Given the description of an element on the screen output the (x, y) to click on. 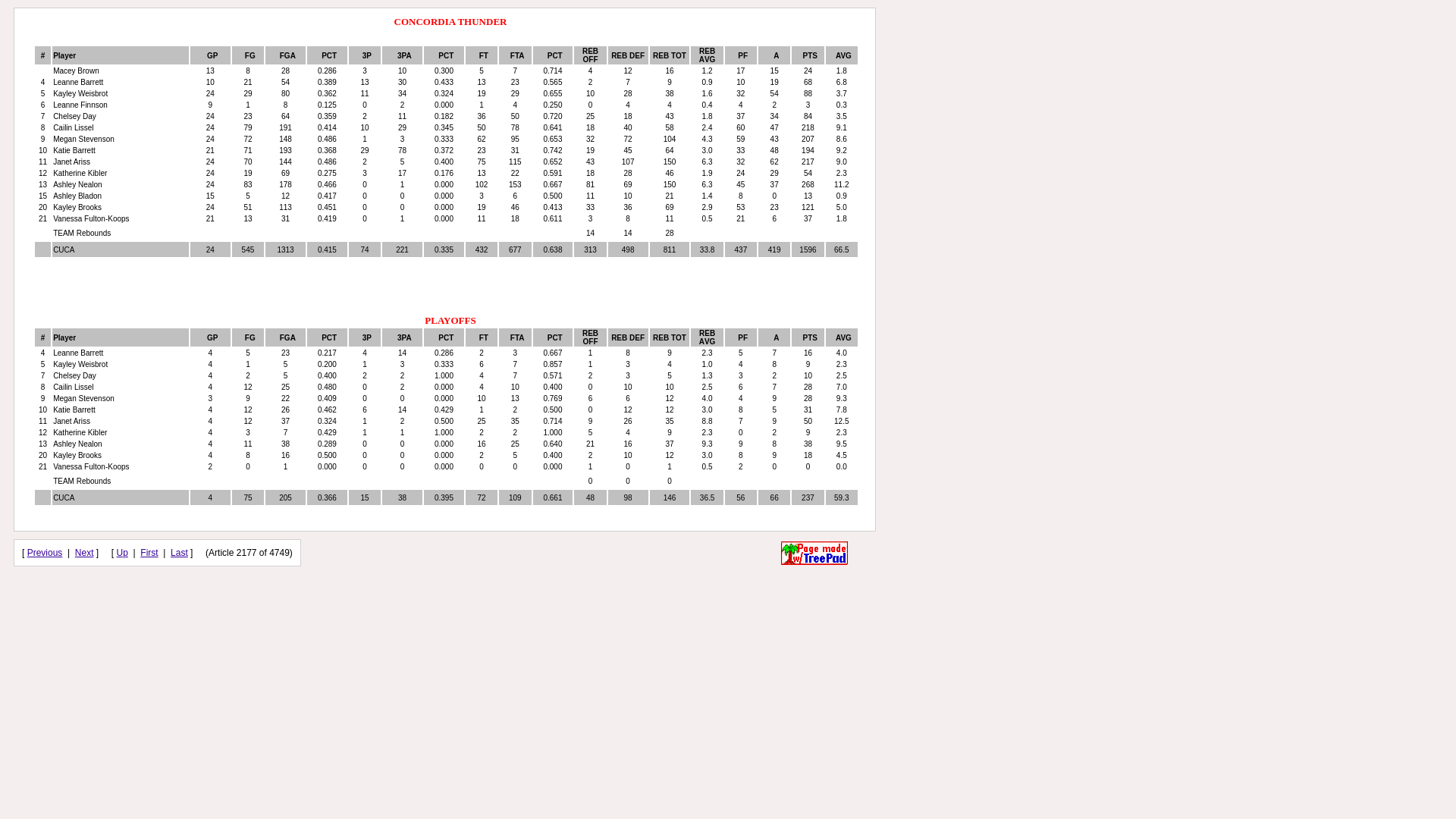
Next Element type: text (84, 552)
First Element type: text (148, 552)
Previous Element type: text (44, 552)
Last Element type: text (179, 552)
Up Element type: text (122, 552)
